Given the description of an element on the screen output the (x, y) to click on. 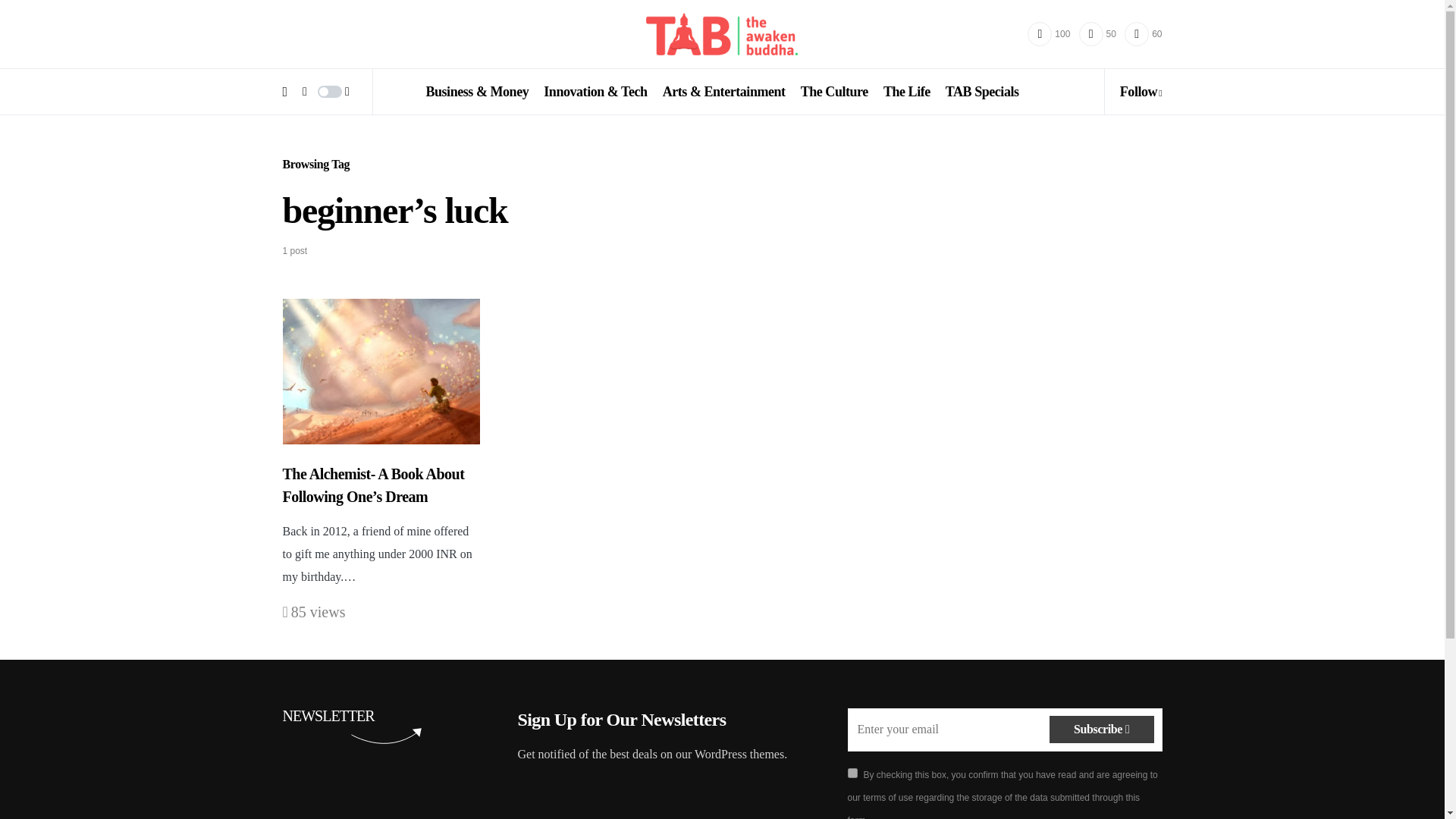
60 (1142, 33)
100 (1048, 33)
50 (1097, 33)
on (852, 773)
